Given the description of an element on the screen output the (x, y) to click on. 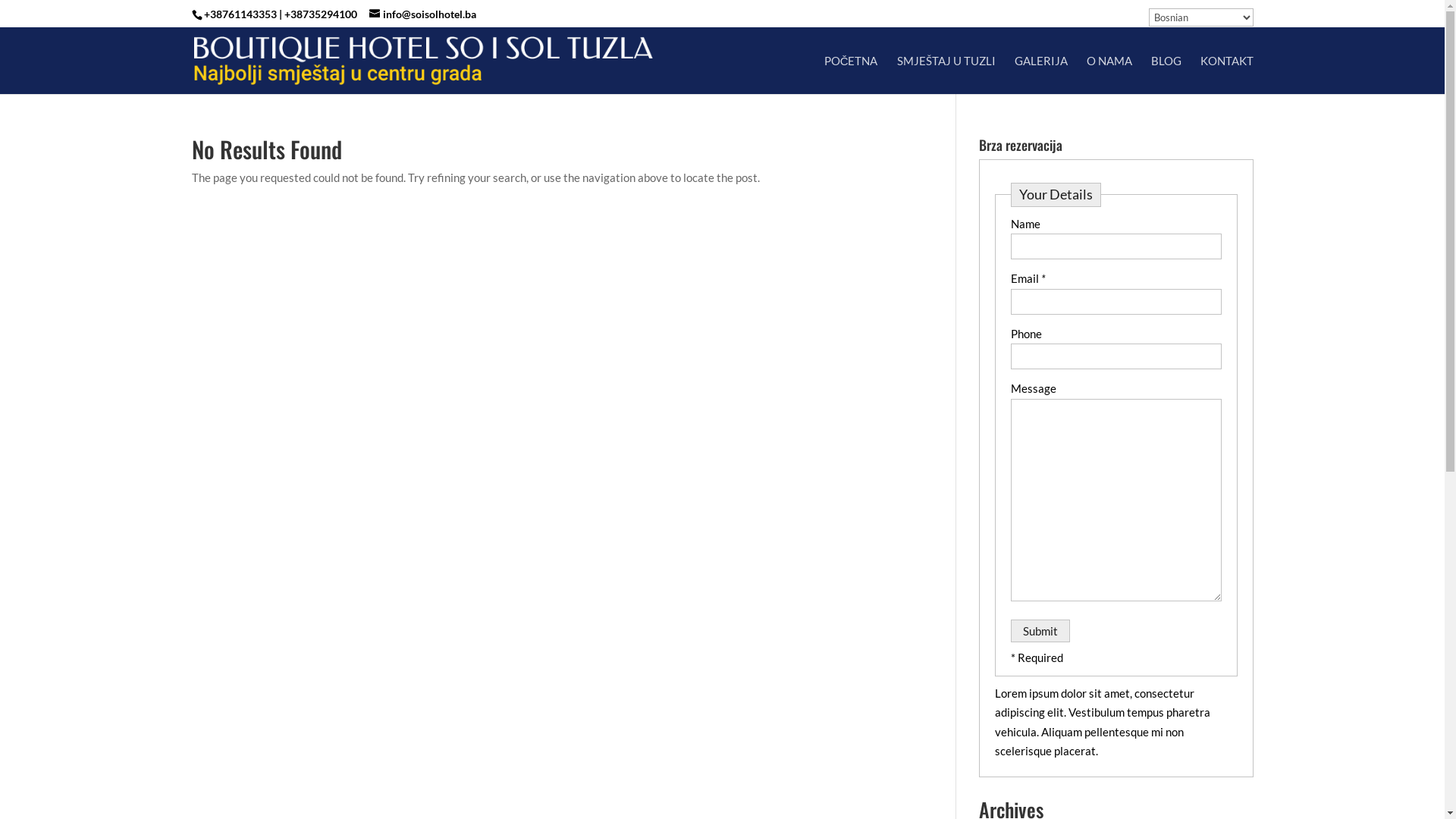
info@soisolhotel.ba Element type: text (421, 13)
GALERIJA Element type: text (1040, 74)
O NAMA Element type: text (1108, 74)
Submit Element type: text (1039, 630)
BLOG Element type: text (1166, 74)
KONTAKT Element type: text (1225, 74)
